Given the description of an element on the screen output the (x, y) to click on. 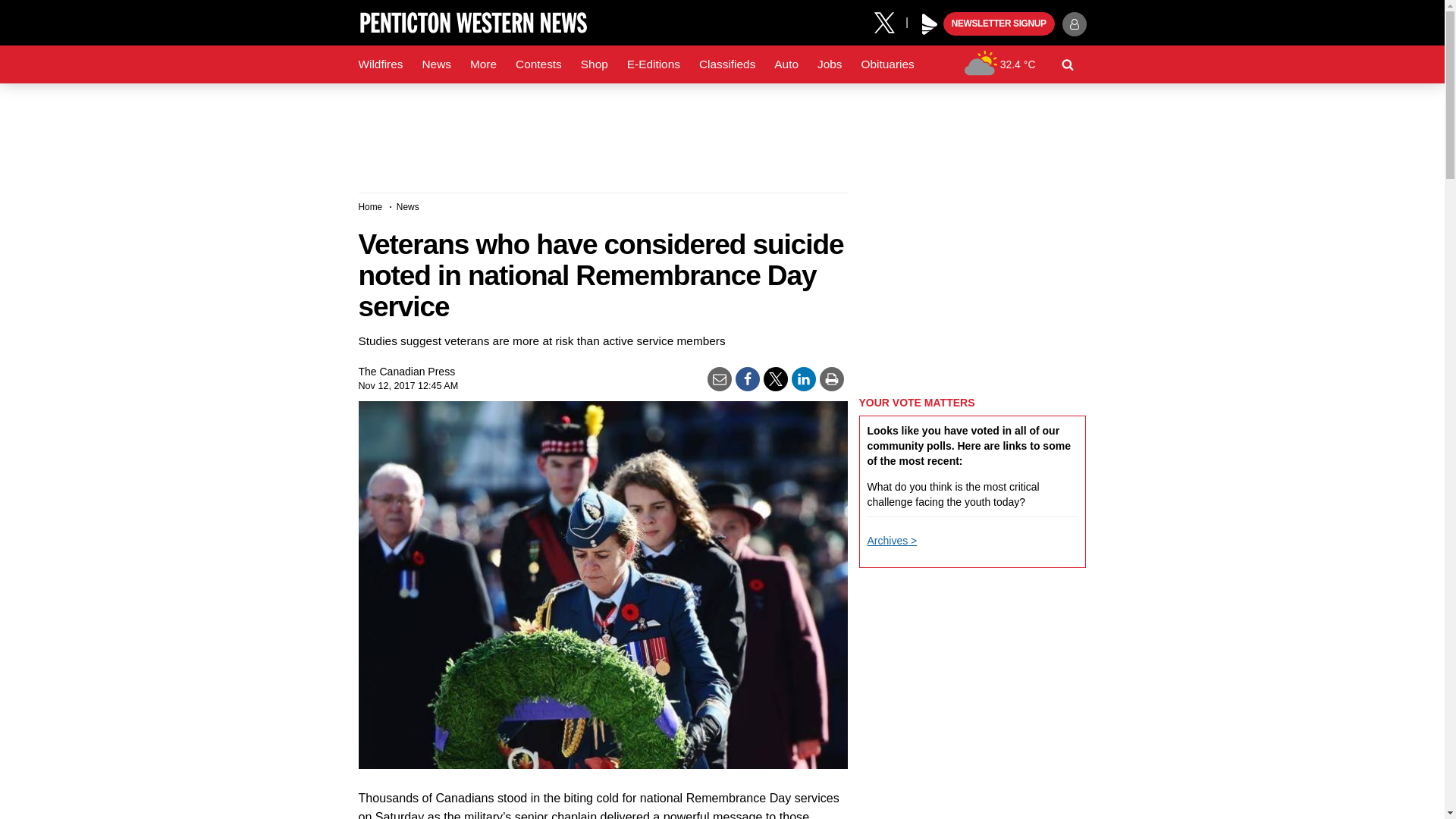
Play (929, 24)
NEWSLETTER SIGNUP (998, 24)
Wildfires (380, 64)
X (889, 21)
Black Press Media (929, 24)
News (435, 64)
